Given the description of an element on the screen output the (x, y) to click on. 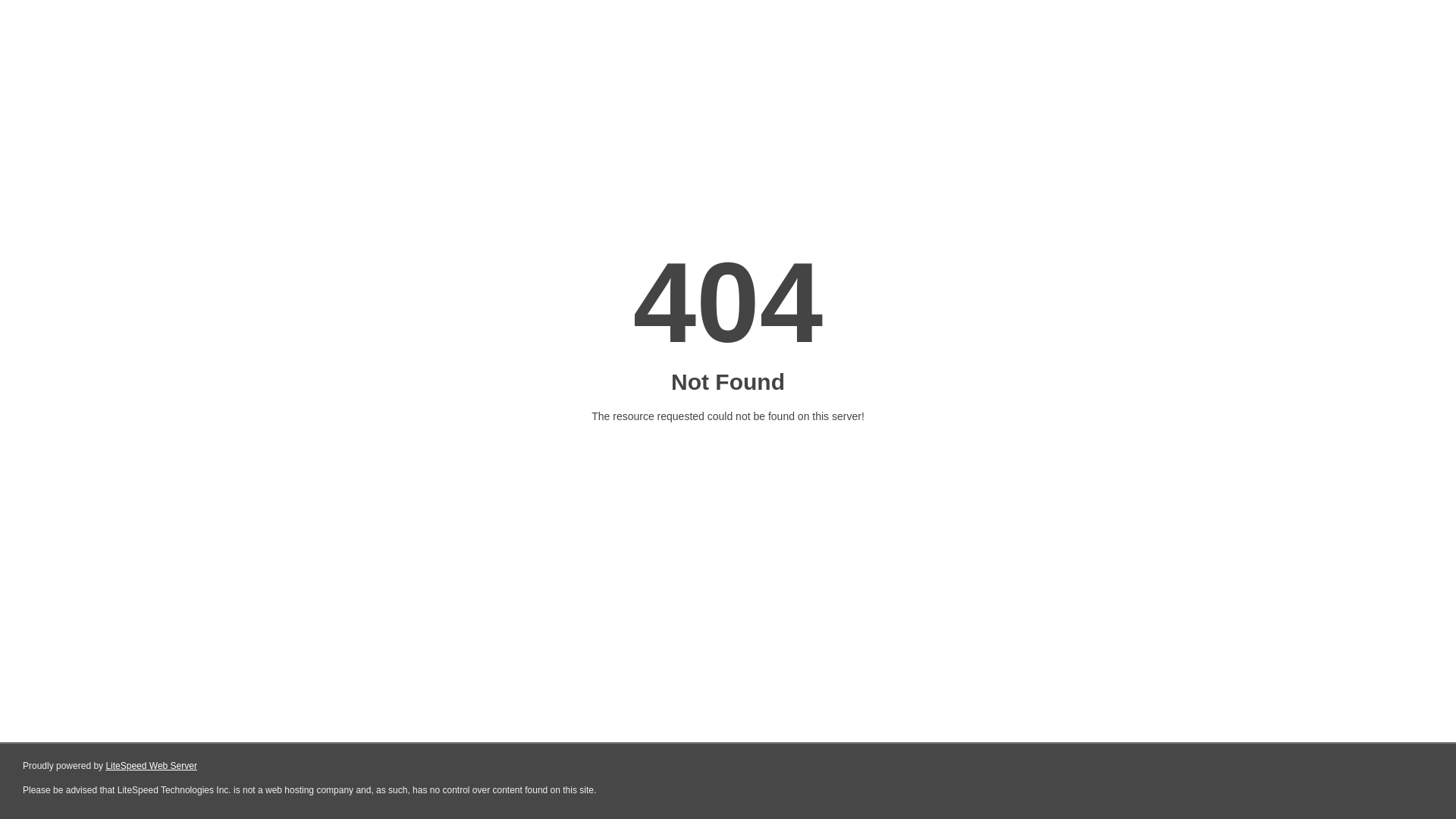
LiteSpeed Web Server Element type: text (151, 765)
